Given the description of an element on the screen output the (x, y) to click on. 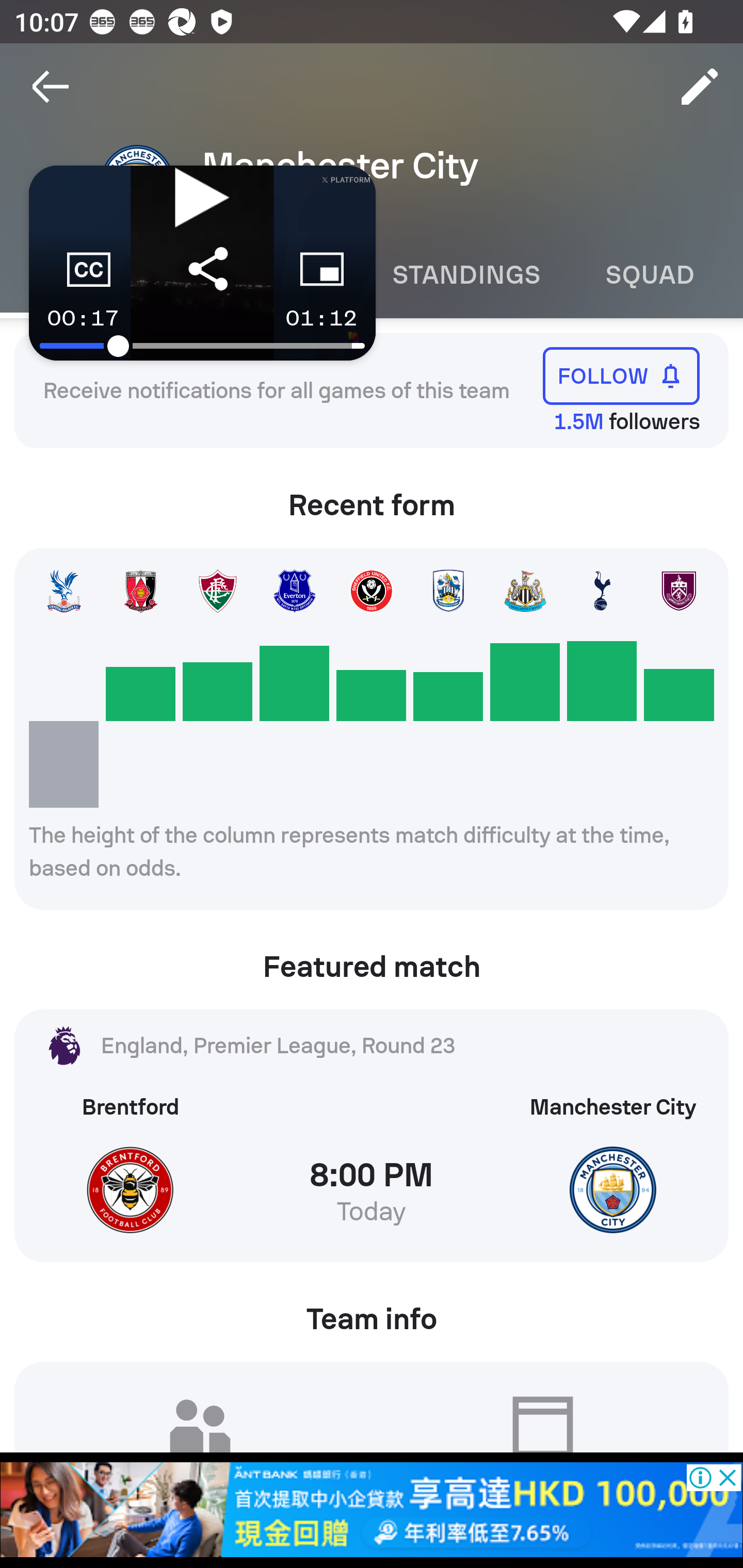
Navigate up (50, 86)
Edit (699, 86)
Standings STANDINGS (465, 275)
Squad SQUAD (650, 275)
FOLLOW (621, 375)
